Given the description of an element on the screen output the (x, y) to click on. 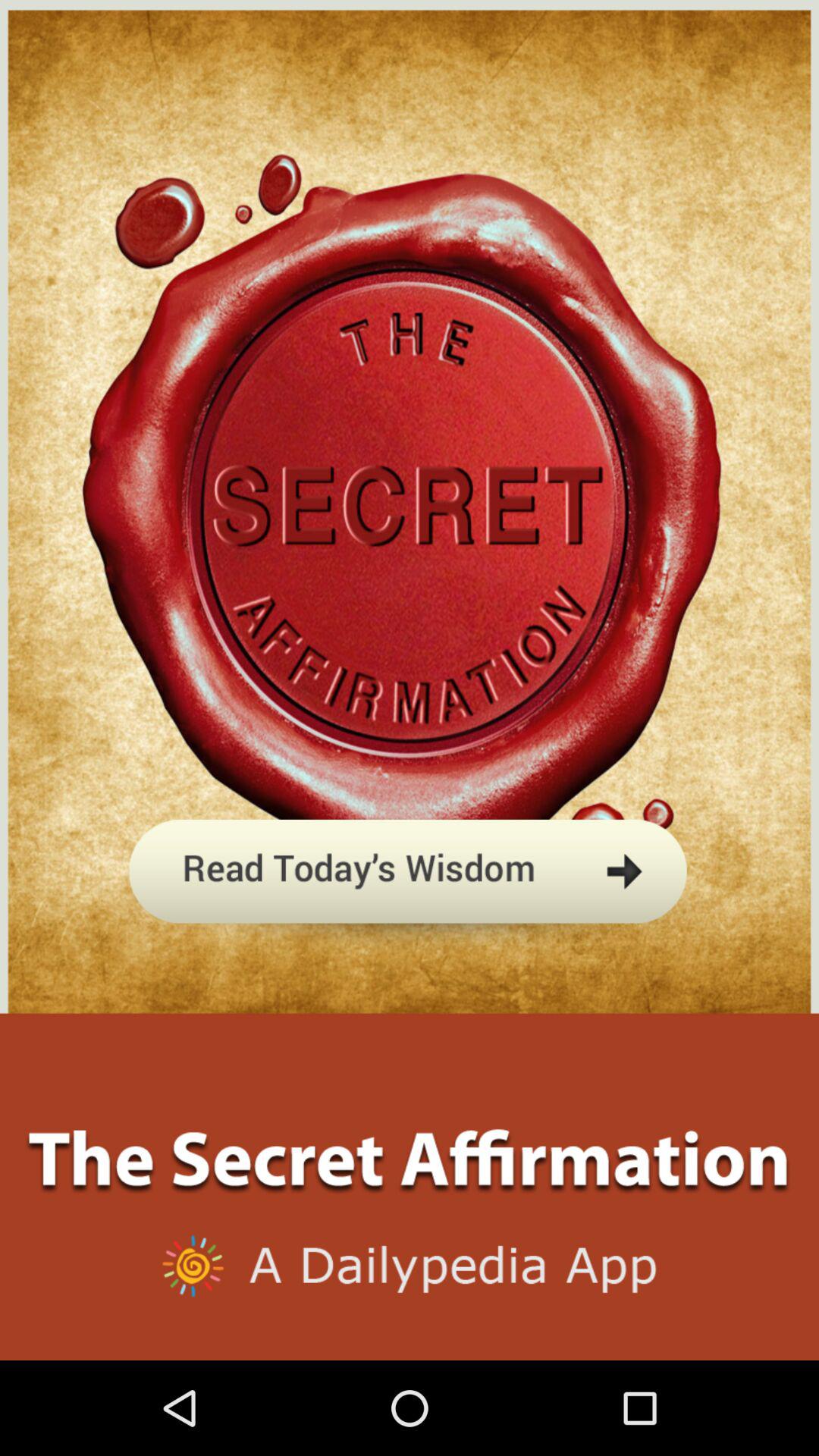
read today 's article (408, 943)
